Given the description of an element on the screen output the (x, y) to click on. 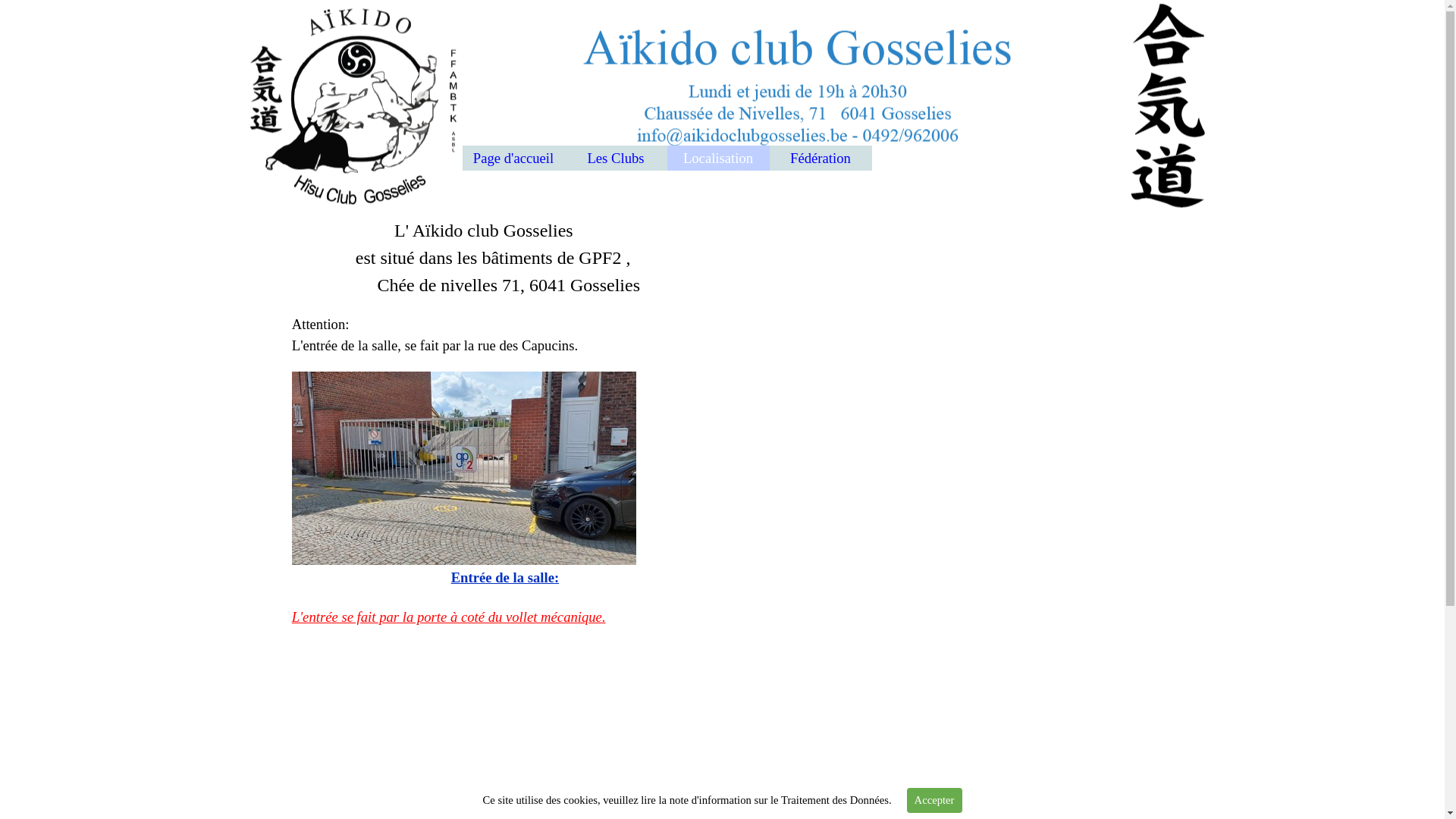
Localisation Element type: text (718, 157)
Page d'accueil Element type: text (513, 157)
